Given the description of an element on the screen output the (x, y) to click on. 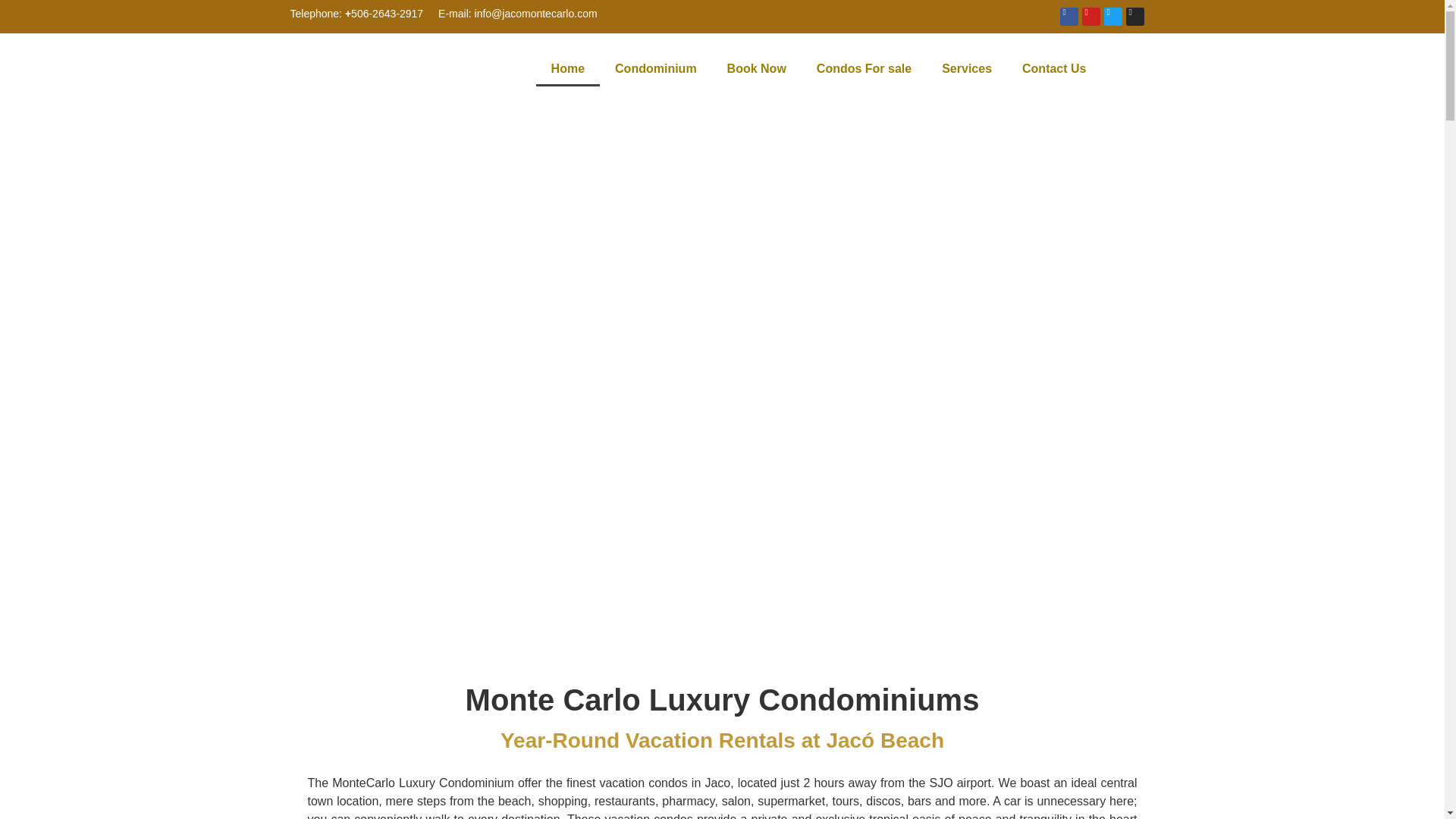
Contact Us (1053, 68)
Book Now (756, 68)
Condominium (655, 68)
Services (966, 68)
Home (567, 68)
Condos For sale (864, 68)
Jaco Beach MonteCarlo Condominium (368, 68)
Book Now (756, 68)
Condos For sale (864, 68)
Montecarlo Condominiums (567, 68)
Condo Services (966, 68)
Condominium (655, 68)
